Given the description of an element on the screen output the (x, y) to click on. 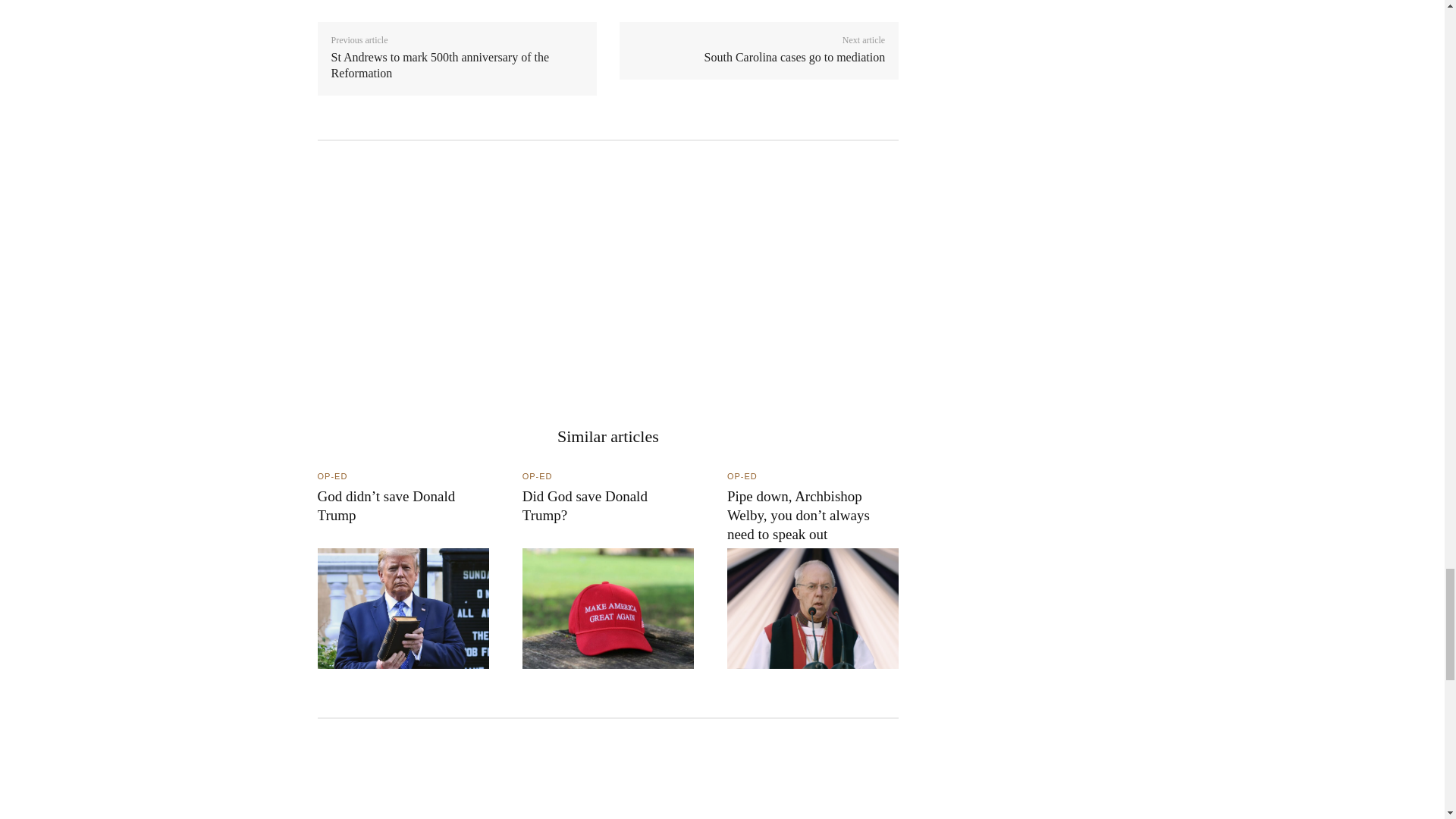
St Andrews to mark 500th anniversary of the Reformation (439, 64)
South Carolina cases go to mediation (794, 56)
